Given the description of an element on the screen output the (x, y) to click on. 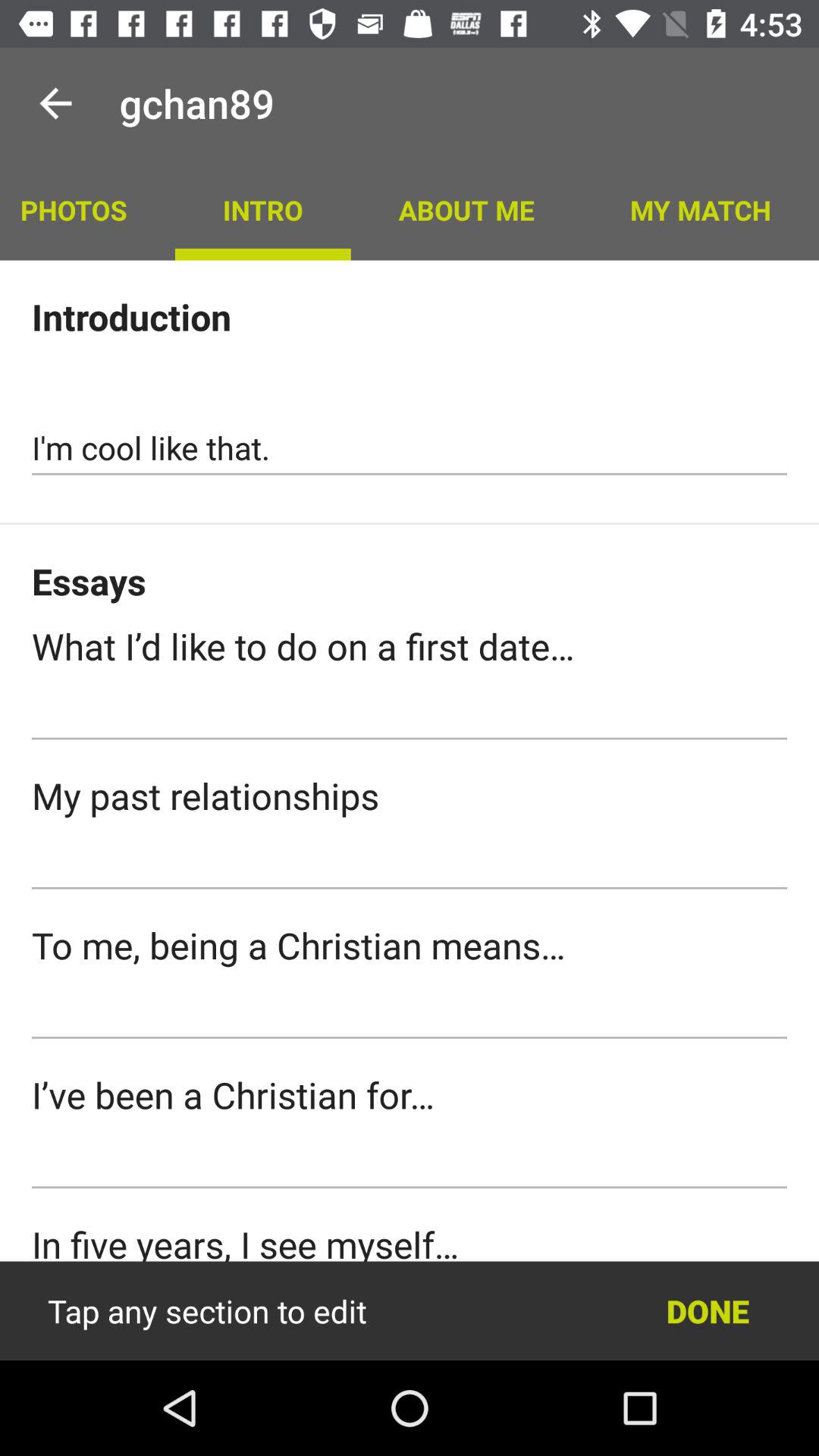
enter text (409, 1011)
